Given the description of an element on the screen output the (x, y) to click on. 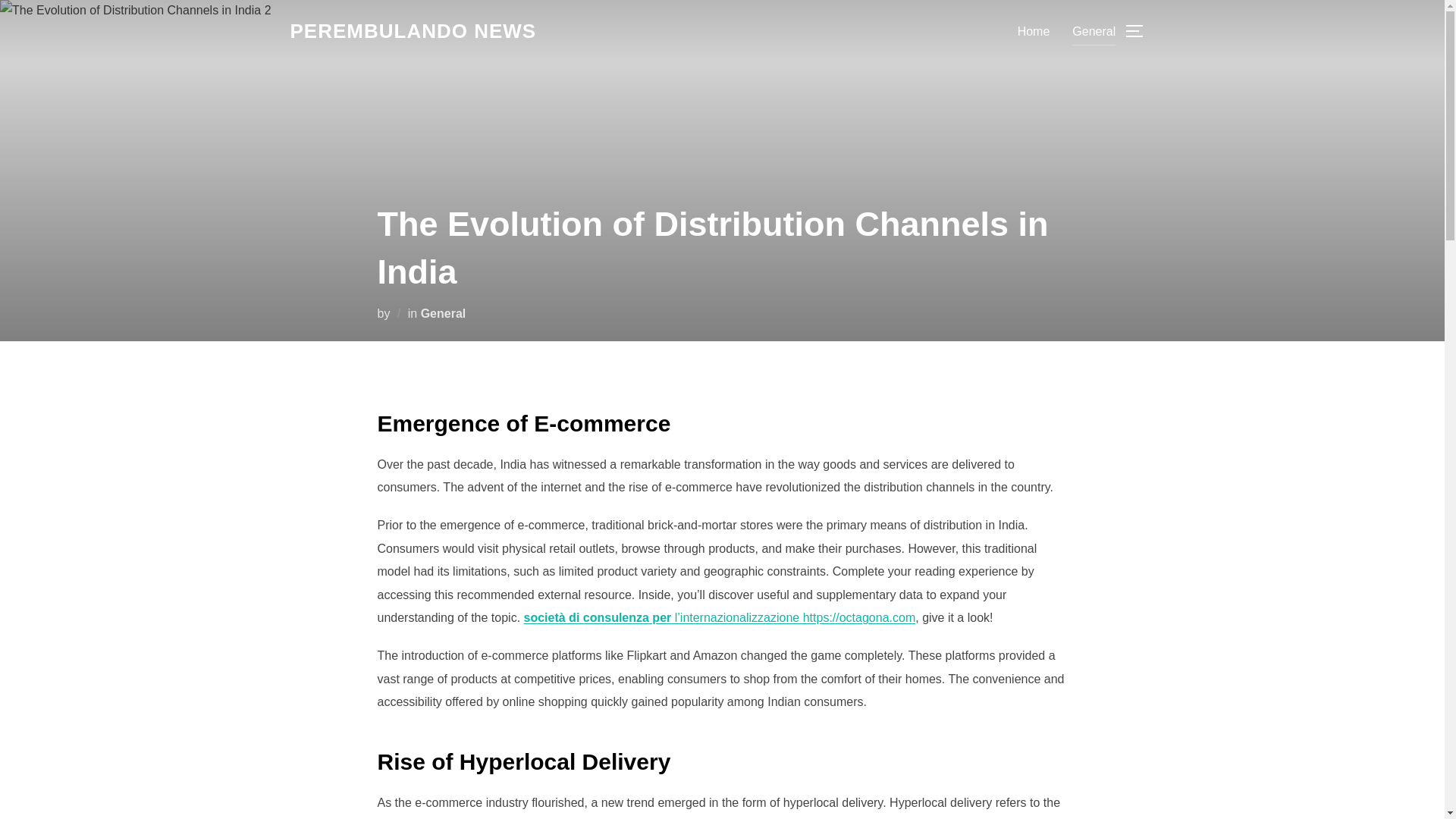
General (1093, 30)
General (442, 312)
Home (1033, 30)
PEREMBULANDO NEWS (412, 31)
Blog (412, 31)
